Given the description of an element on the screen output the (x, y) to click on. 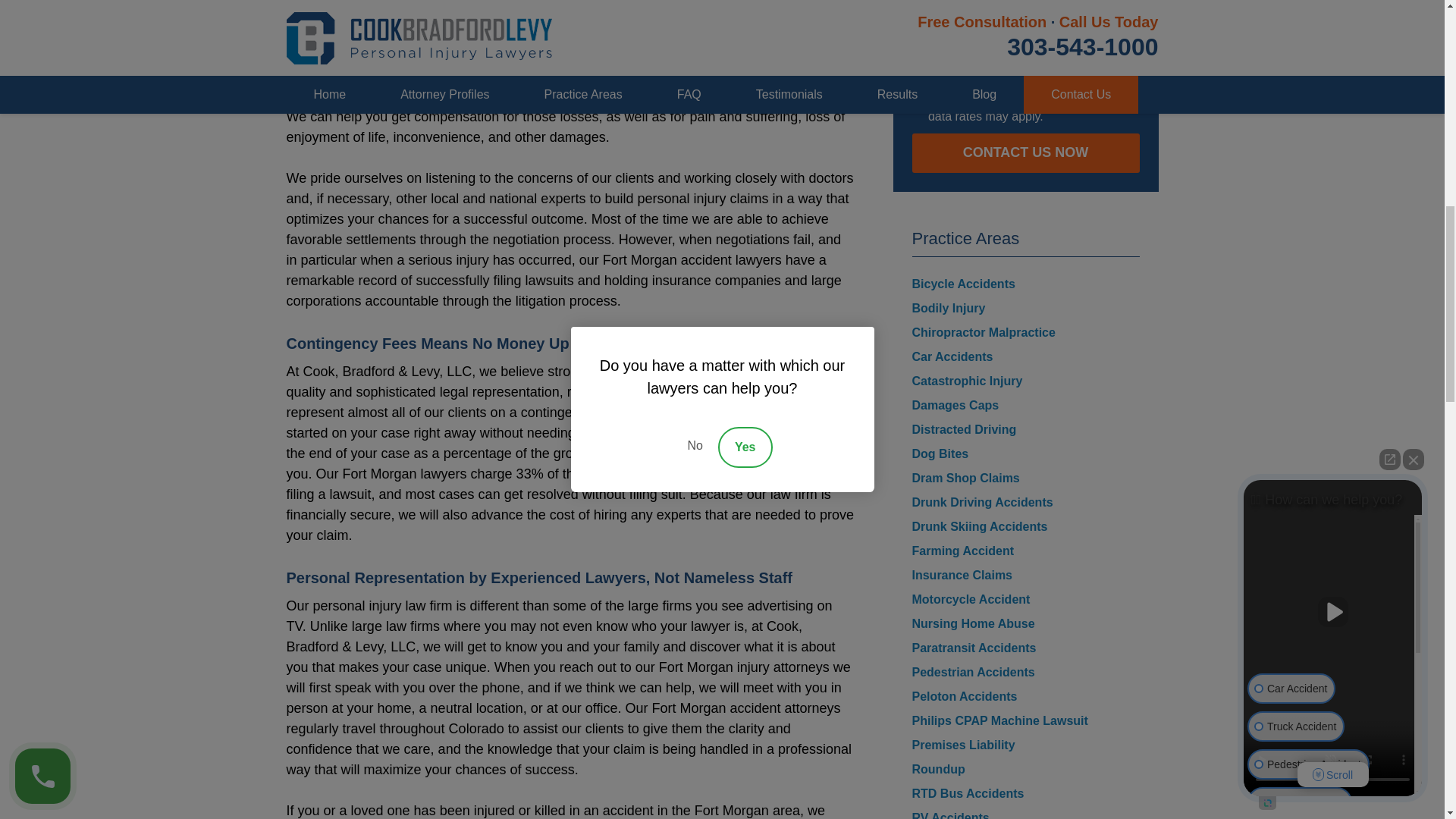
motorcycle (322, 34)
drunk drivers (520, 55)
Bicycle Accidents (962, 283)
nursing home abuse (555, 45)
truck (828, 14)
Bodily Injury (948, 308)
pedestrian (424, 34)
CONTACT US NOW (1024, 152)
distracted drivers (652, 55)
Car Accidents (951, 356)
Chiropractor Malpractice (982, 332)
slip and falls (579, 34)
wrongful death (677, 34)
car (794, 14)
Agreed to receive text messages. (917, 62)
